Given the description of an element on the screen output the (x, y) to click on. 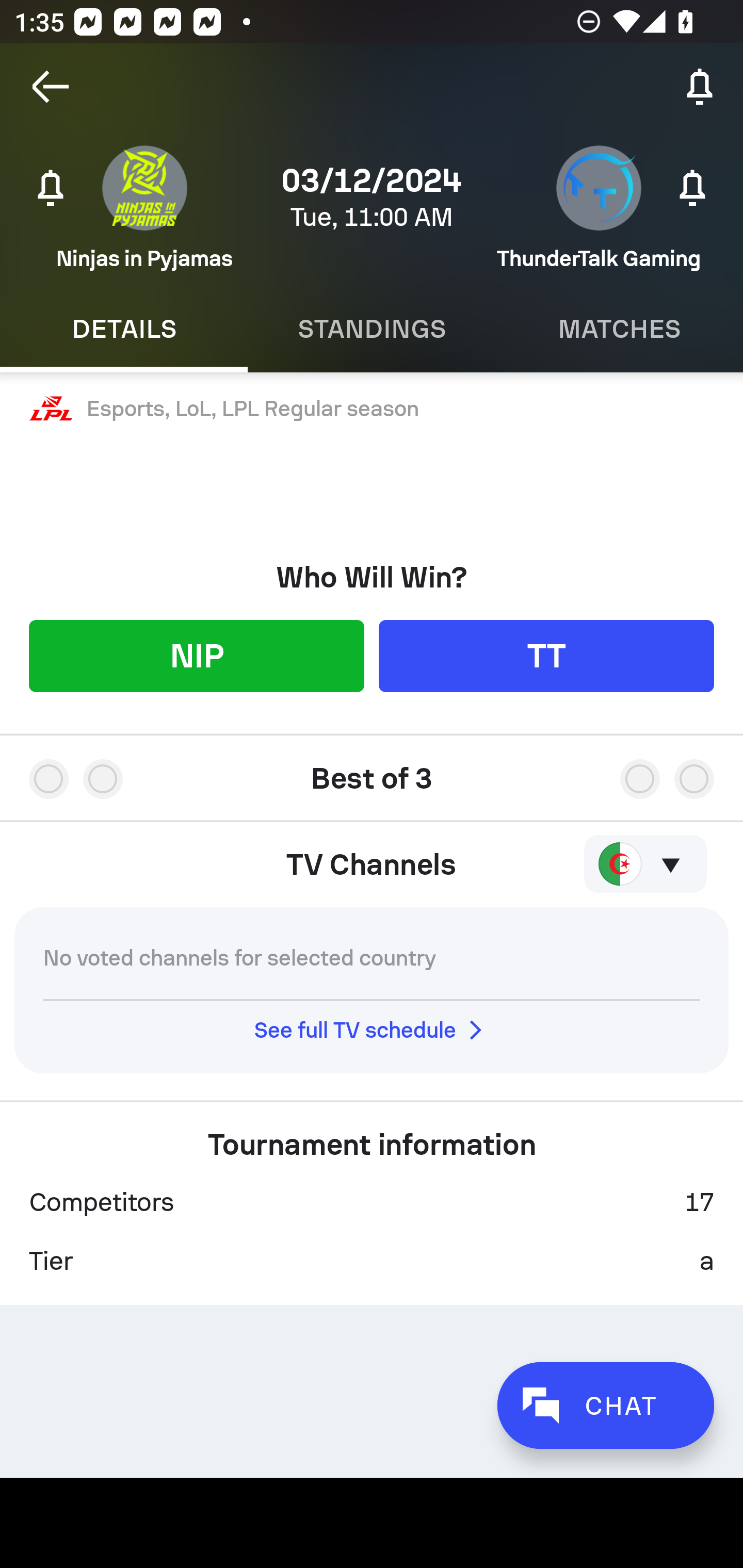
Navigate up (50, 86)
Standings STANDINGS (371, 329)
Matches MATCHES (619, 329)
Esports, LoL, LPL Regular season (371, 409)
NIP (196, 655)
TT (546, 655)
Best of 3 (371, 771)
See full TV schedule (371, 1029)
CHAT (605, 1405)
